Given the description of an element on the screen output the (x, y) to click on. 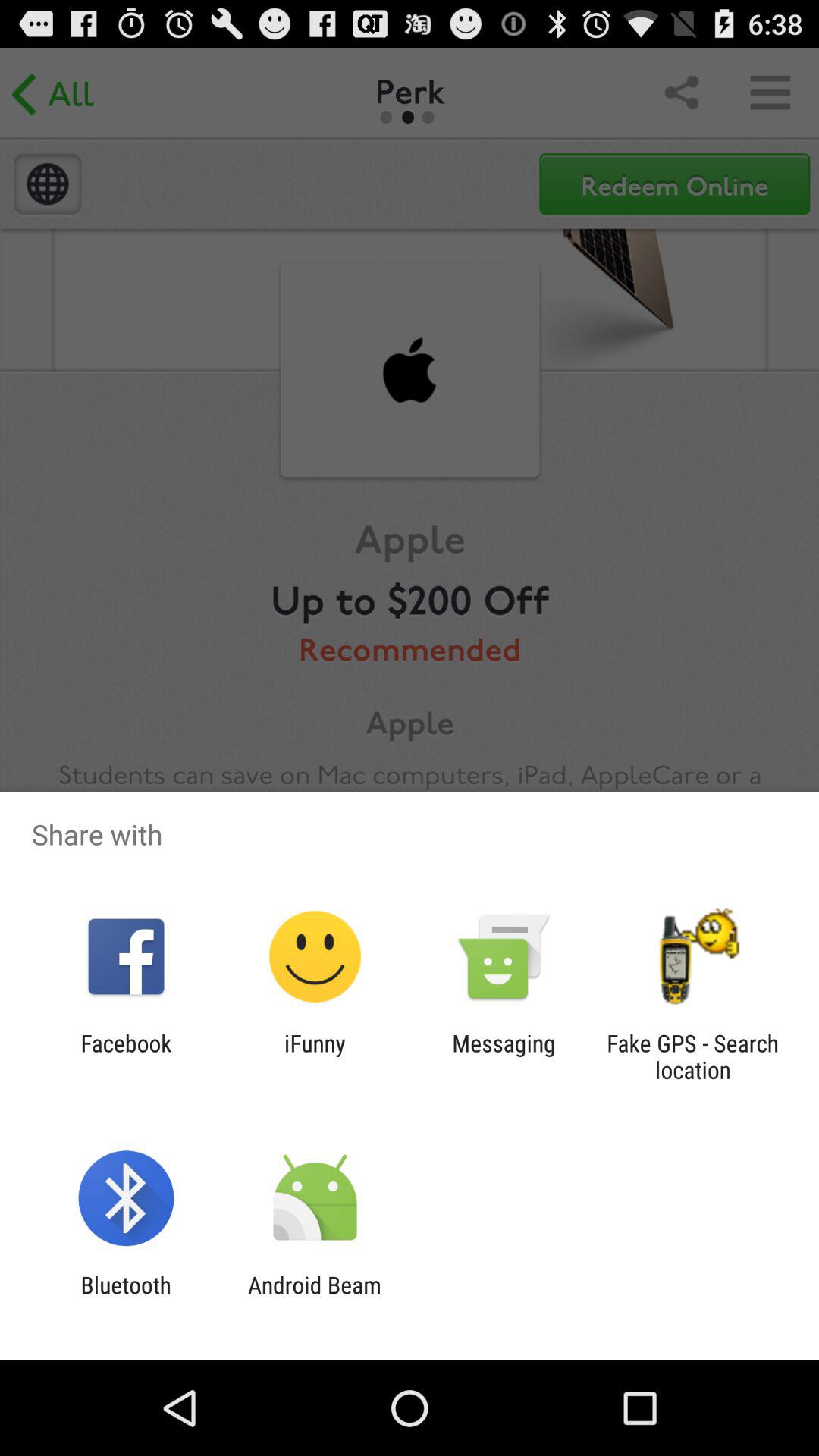
choose the android beam item (314, 1298)
